Given the description of an element on the screen output the (x, y) to click on. 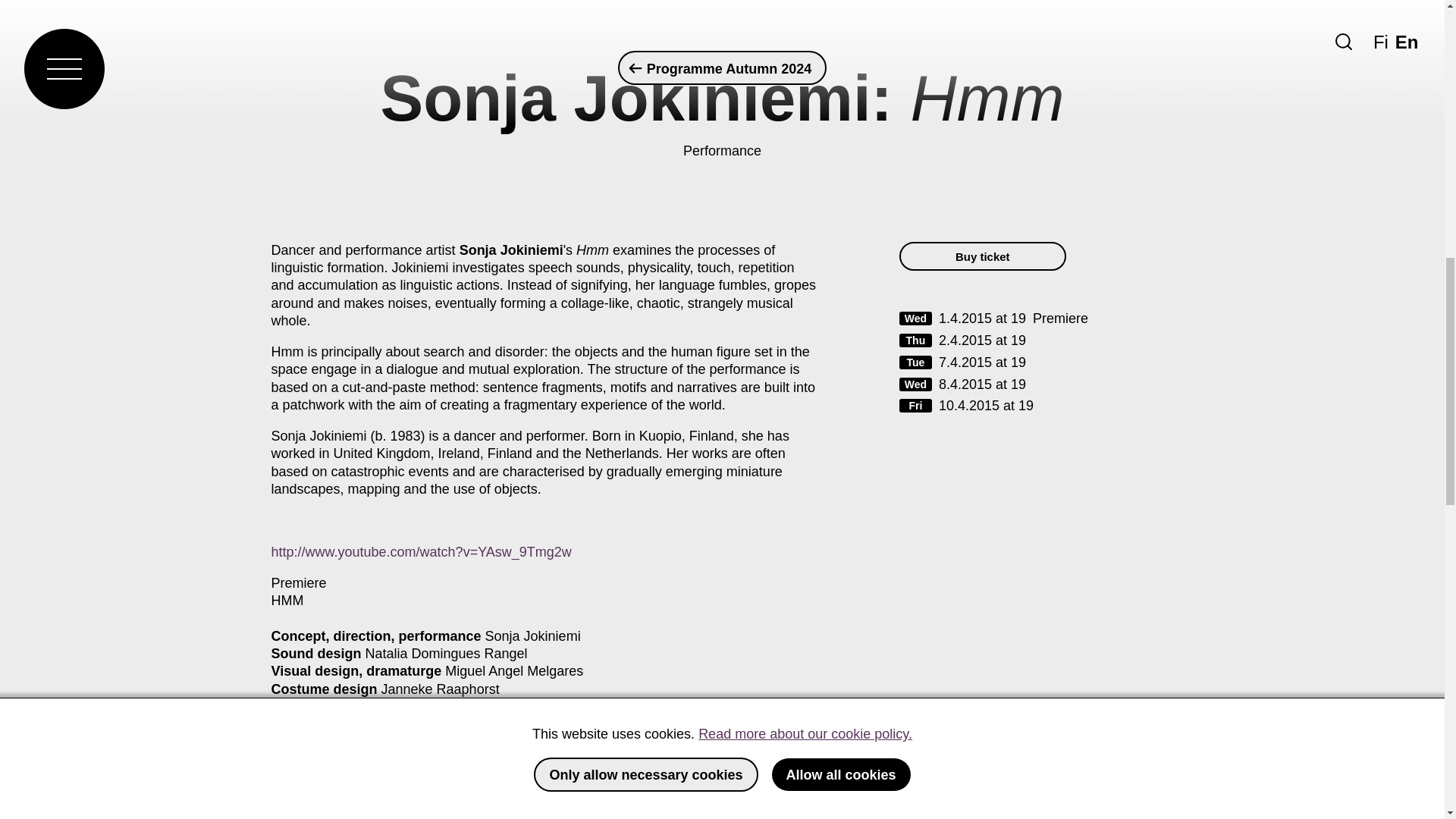
Buy ticket (982, 256)
